Given the description of an element on the screen output the (x, y) to click on. 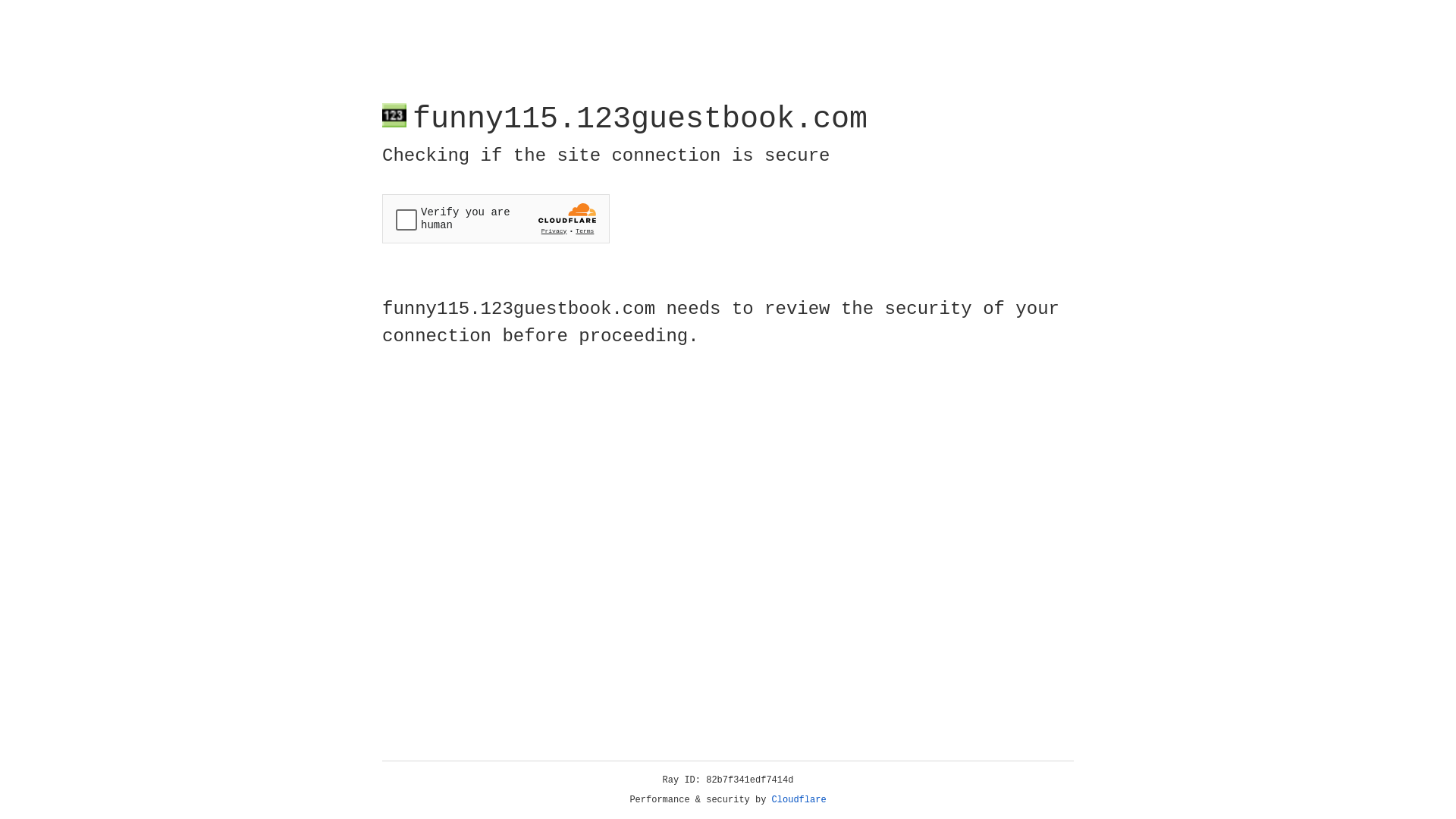
Cloudflare Element type: text (798, 799)
Widget containing a Cloudflare security challenge Element type: hover (495, 218)
